Given the description of an element on the screen output the (x, y) to click on. 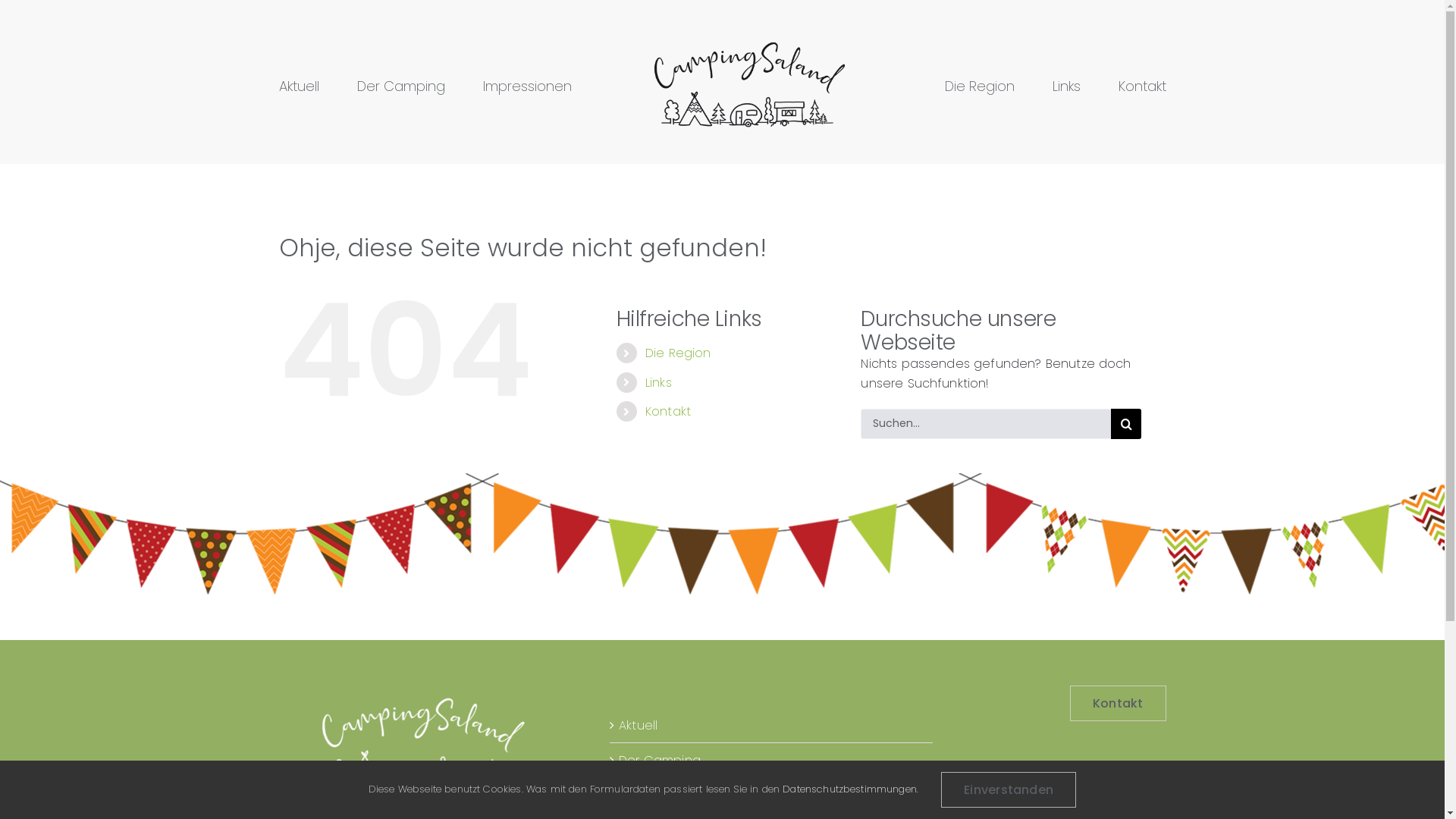
Impressionen Element type: text (526, 85)
Kontakt Element type: text (667, 411)
Kontakt Element type: text (1141, 85)
Der Camping Element type: text (400, 85)
Camping_Saland_450-w Element type: hover (421, 744)
Kontakt Element type: text (1118, 703)
Links Element type: text (658, 382)
Aktuell Element type: text (637, 725)
Die Region Element type: text (678, 352)
Die Region Element type: text (979, 85)
Aktuell Element type: text (299, 85)
Links Element type: text (1066, 85)
Impressionen Element type: text (659, 795)
Datenschutzbestimmungen Element type: text (849, 788)
Der Camping Element type: text (659, 759)
Einverstanden Element type: text (1008, 789)
